Given the description of an element on the screen output the (x, y) to click on. 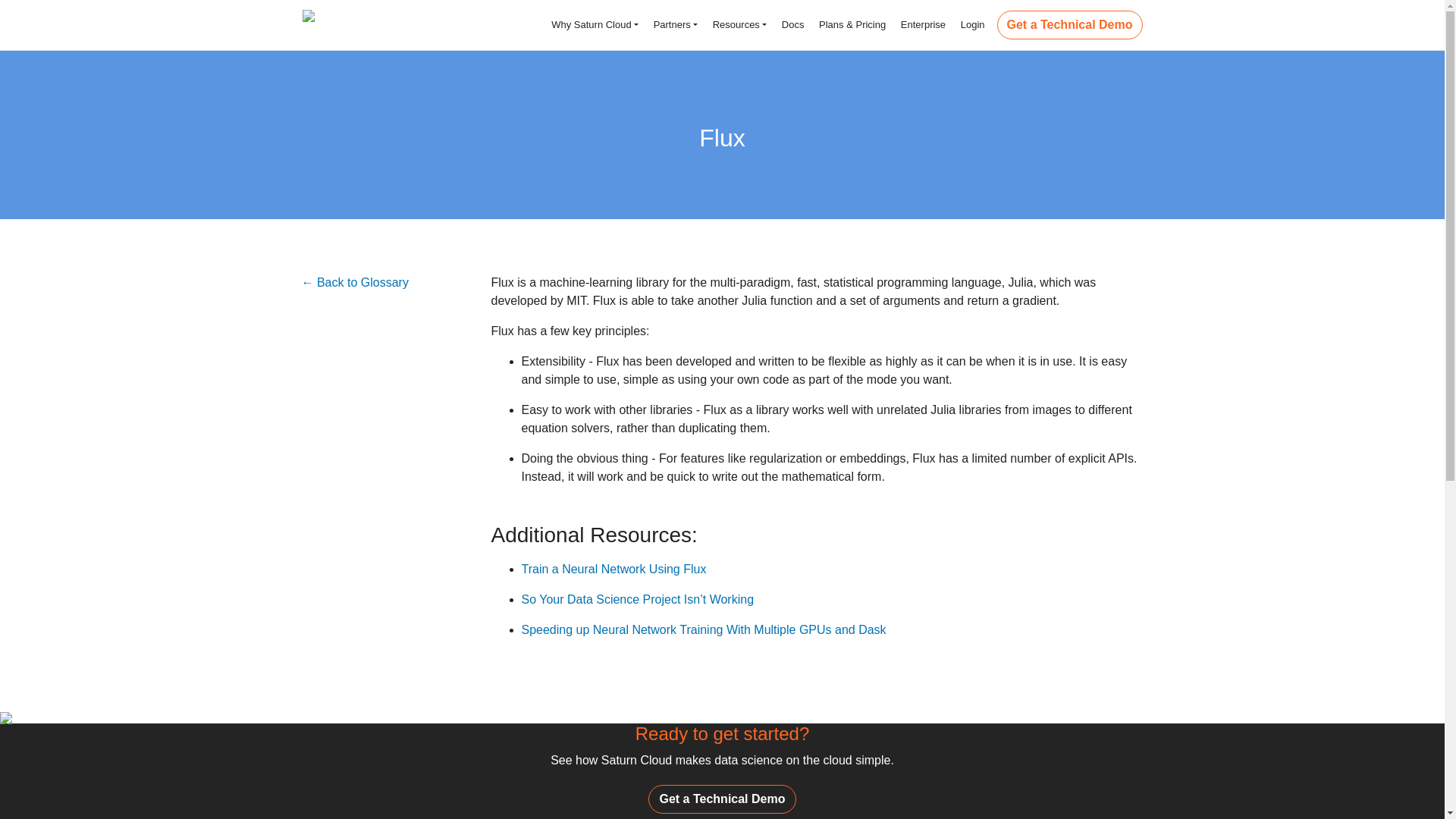
 Partners (674, 24)
Get a Technical Demo (1069, 24)
Get a Technical Demo (721, 799)
 Enterprise (921, 24)
 Resources (738, 24)
Train a Neural Network Using Flux (613, 568)
 Docs (791, 24)
 Login (971, 24)
 Why Saturn Cloud (594, 24)
